Given the description of an element on the screen output the (x, y) to click on. 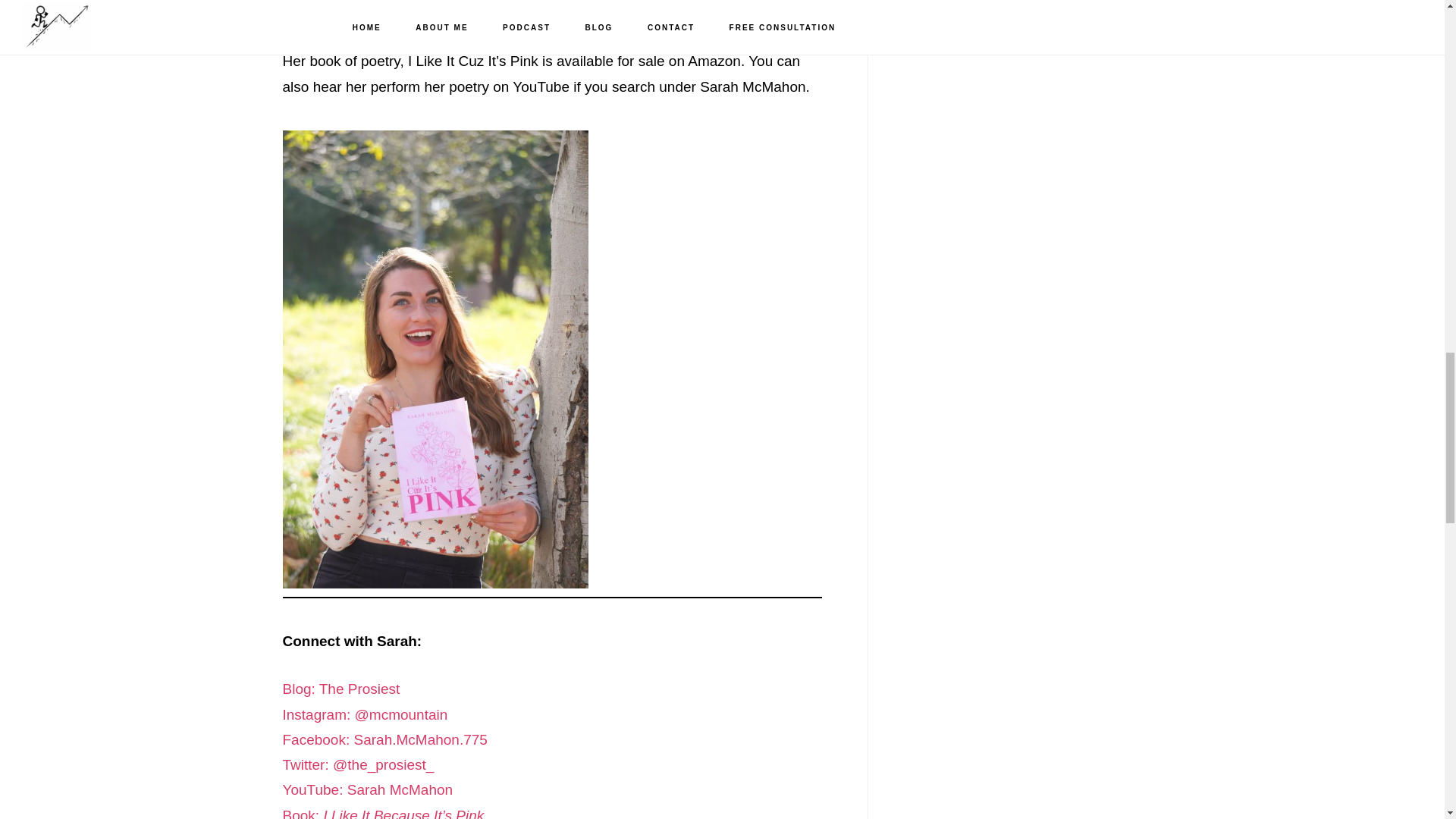
YouTube: Sarah McMahon (367, 789)
Facebook: Sarah.McMahon.775 (384, 739)
Blog: The Prosiest (340, 688)
